Given the description of an element on the screen output the (x, y) to click on. 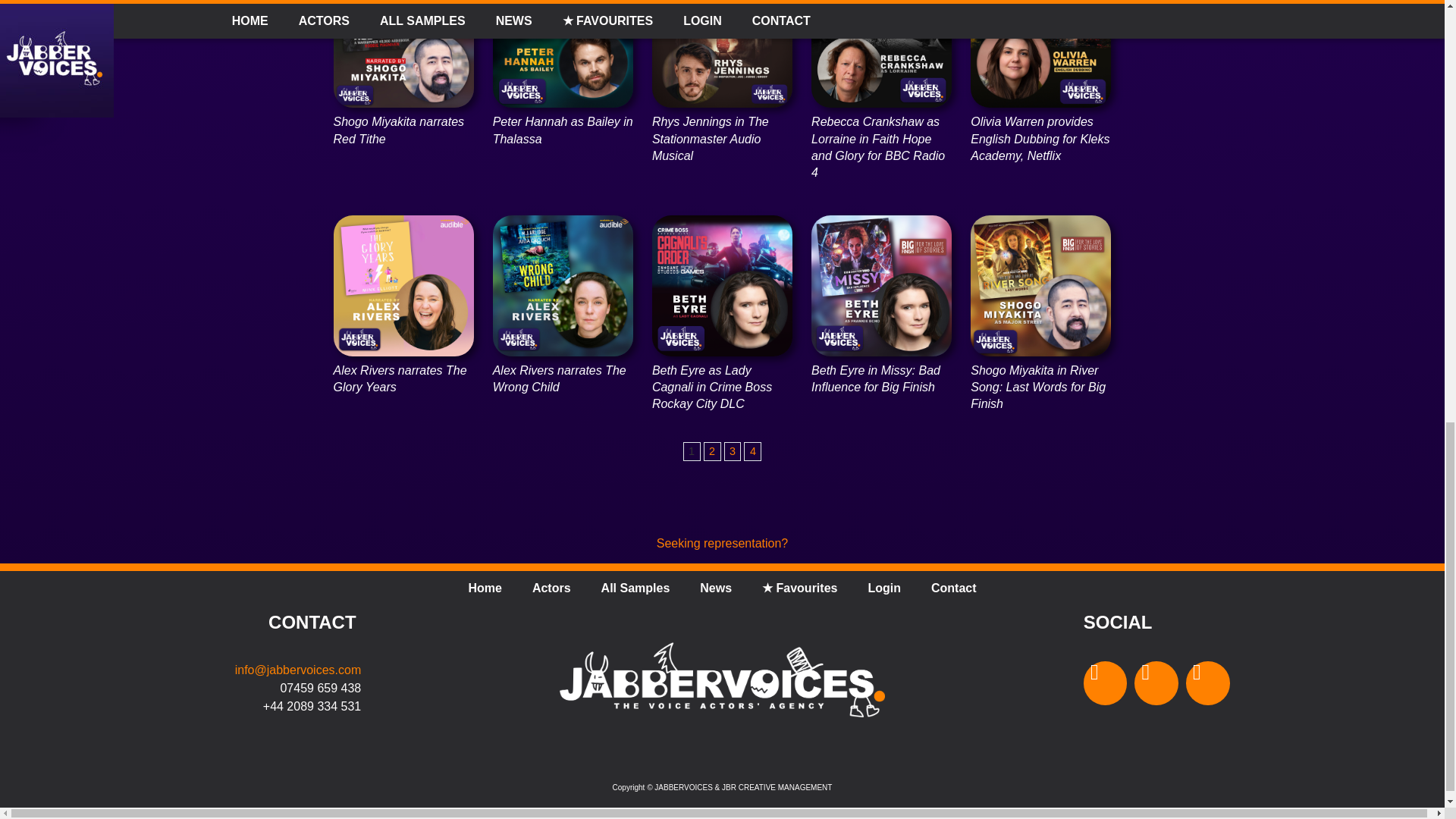
4 (752, 451)
2 (711, 451)
3 (732, 451)
